Given the description of an element on the screen output the (x, y) to click on. 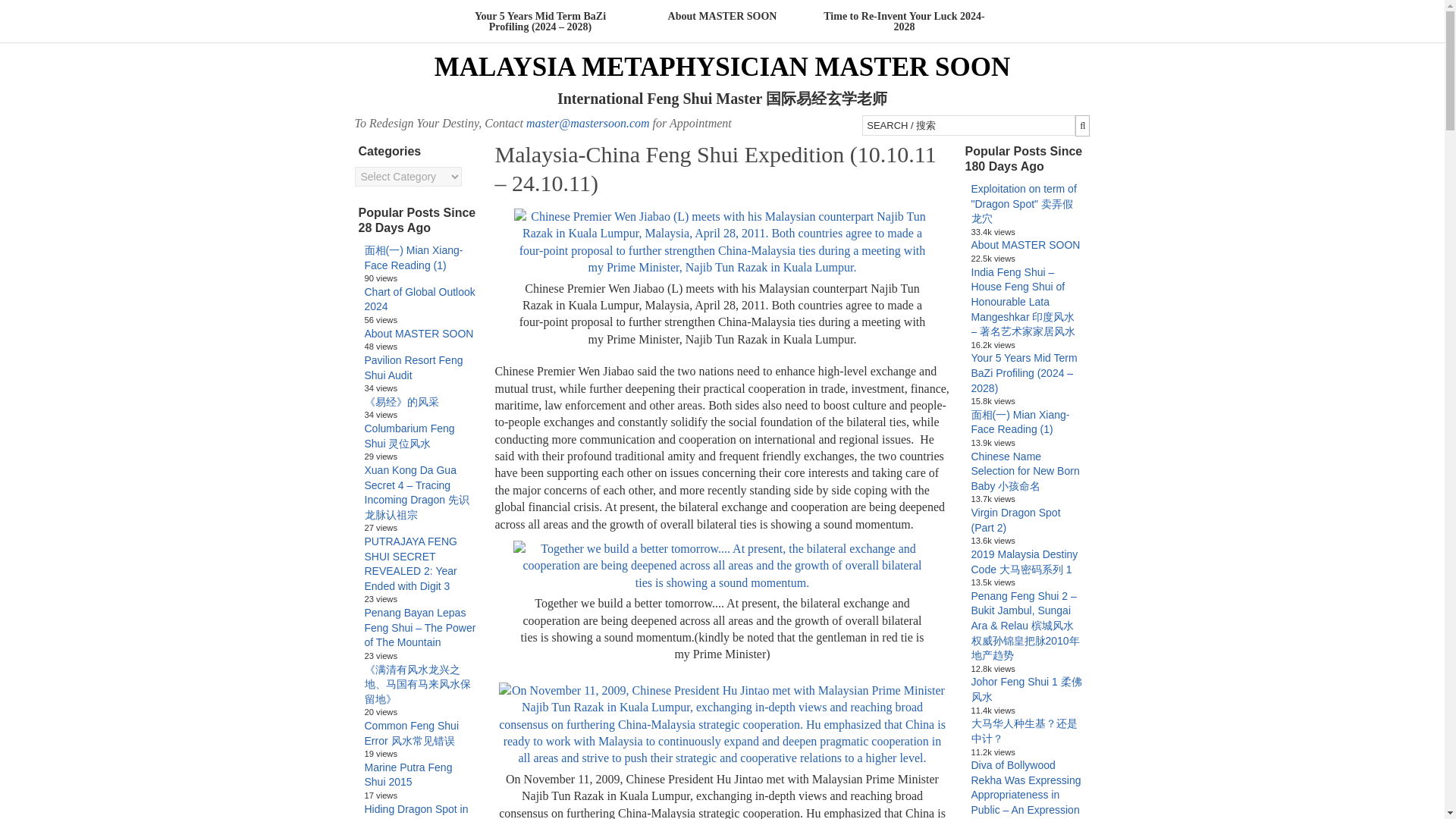
China Malaysia 3 (721, 565)
About MASTER SOON (721, 16)
About MASTER SOON (1025, 244)
China Malaysia2 (722, 724)
MALAYSIA METAPHYSICIAN MASTER SOON (721, 66)
China Malaysia (722, 242)
Time to Re-Invent Your Luck 2024-2028 (903, 22)
